Given the description of an element on the screen output the (x, y) to click on. 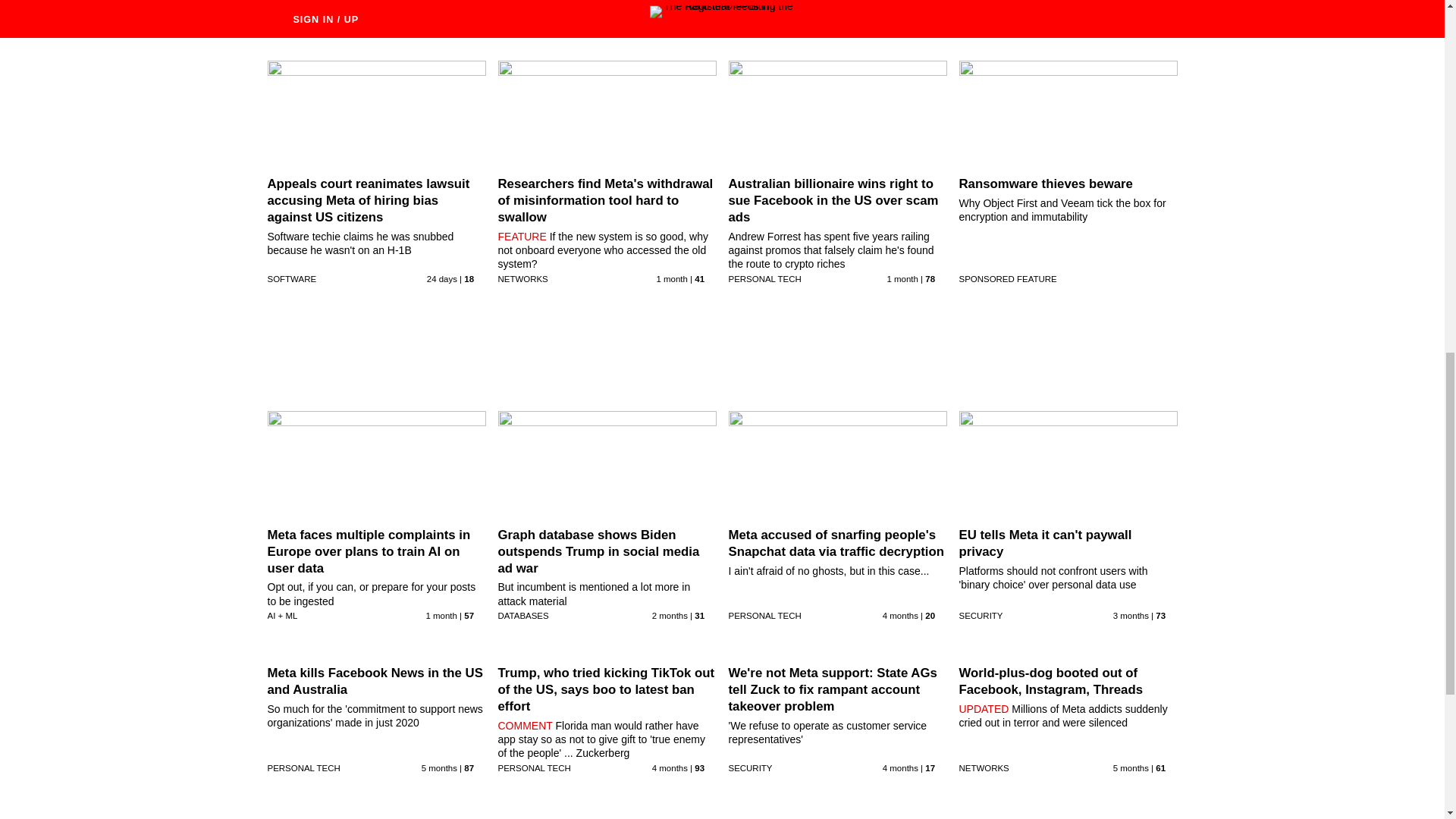
18 Jun 2024 14:2 (671, 278)
27 Jun 2024 21:5 (441, 278)
20 Jun 2024 3:30 (901, 278)
1 Mar 2024 3:45 (439, 768)
27 Mar 2024 15:30 (900, 614)
17 May 2024 19:29 (669, 614)
9 Mar 2024 0:25 (669, 768)
18 Apr 2024 12:19 (1130, 614)
6 Jun 2024 15:45 (441, 614)
